Given the description of an element on the screen output the (x, y) to click on. 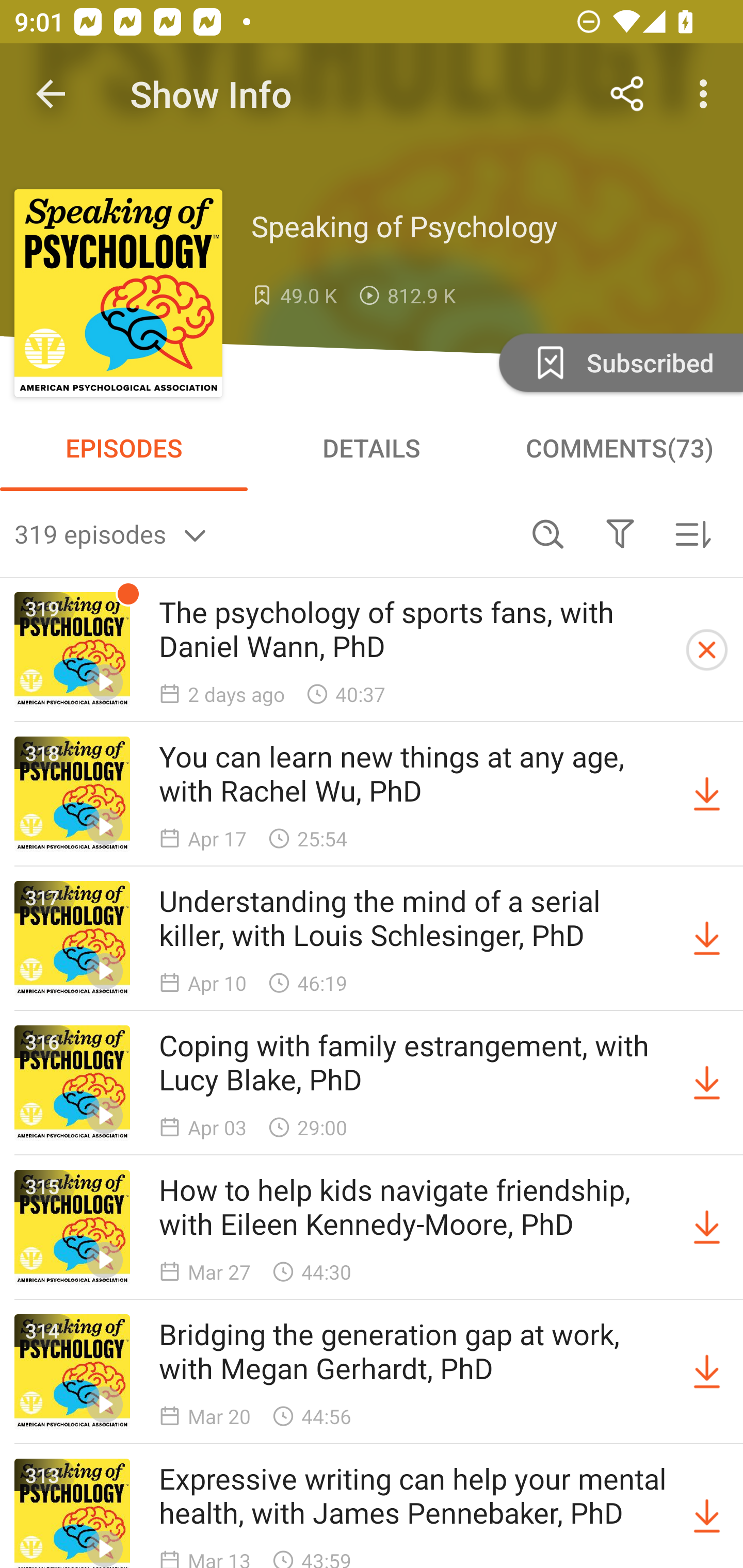
Navigate up (50, 93)
Share (626, 93)
More options (706, 93)
Unsubscribe Subscribed (619, 361)
EPISODES (123, 447)
DETAILS (371, 447)
COMMENTS(73) (619, 447)
319 episodes  (262, 533)
 Search (547, 533)
 (619, 533)
 Sorted by newest first (692, 533)
Cancel Downloading (706, 649)
Download (706, 793)
Download (706, 939)
Download (706, 1083)
Download (706, 1227)
Download (706, 1371)
Download (706, 1513)
